Given the description of an element on the screen output the (x, y) to click on. 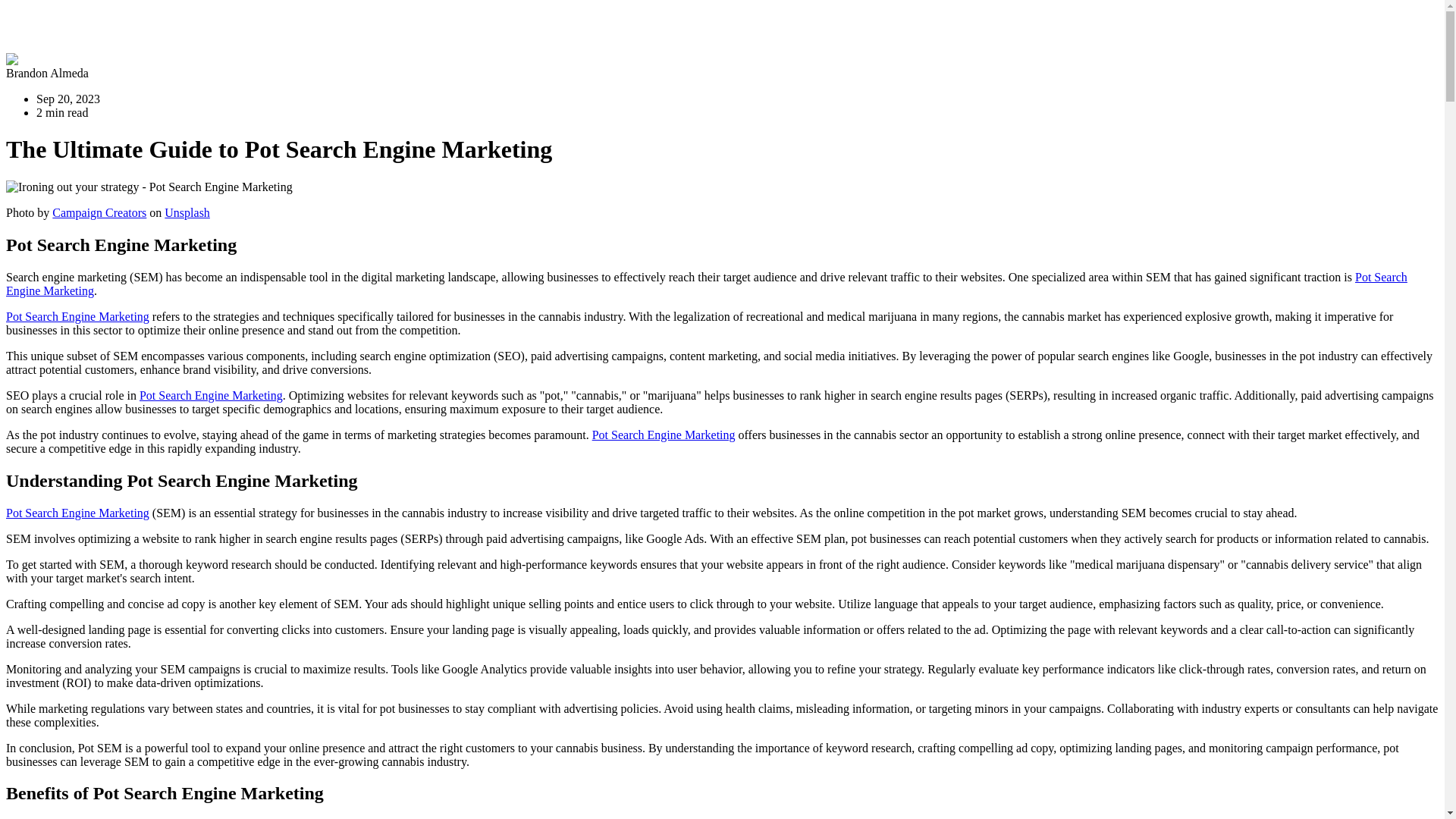
Pot Search Engine Marketing (77, 512)
Pot Search Engine Marketing (77, 316)
Unsplash (186, 212)
Campaign Creators (99, 212)
Pot Search Engine Marketing (210, 395)
Pot Search Engine Marketing (663, 434)
Pot Search Engine Marketing (706, 284)
